Given the description of an element on the screen output the (x, y) to click on. 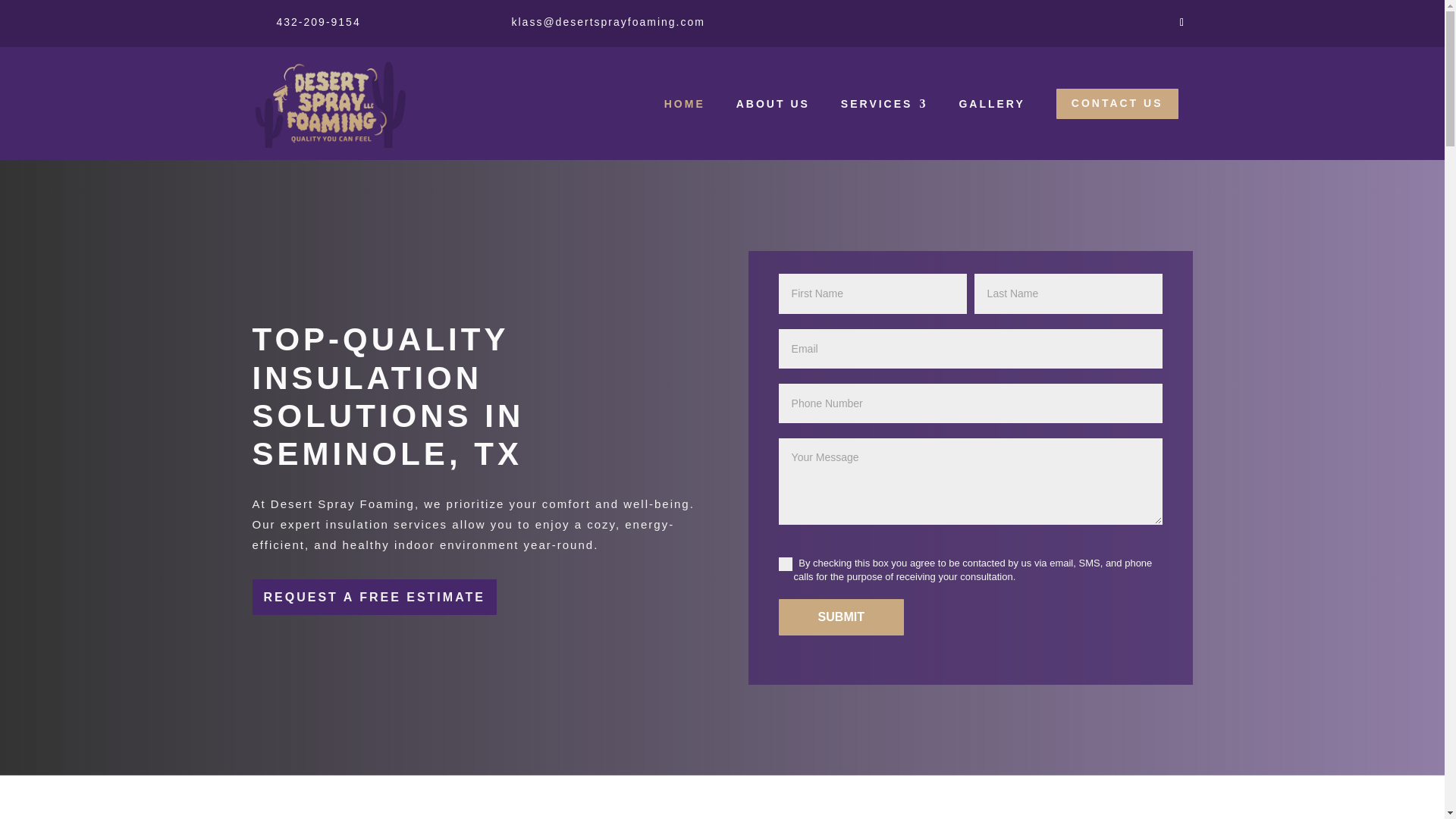
REQUEST A FREE ESTIMATE (373, 597)
GALLERY (991, 103)
SUBMIT (841, 616)
Follow on Facebook (1181, 22)
CONTACT US (1117, 103)
ABOUT US (772, 103)
SERVICES (884, 103)
